Given the description of an element on the screen output the (x, y) to click on. 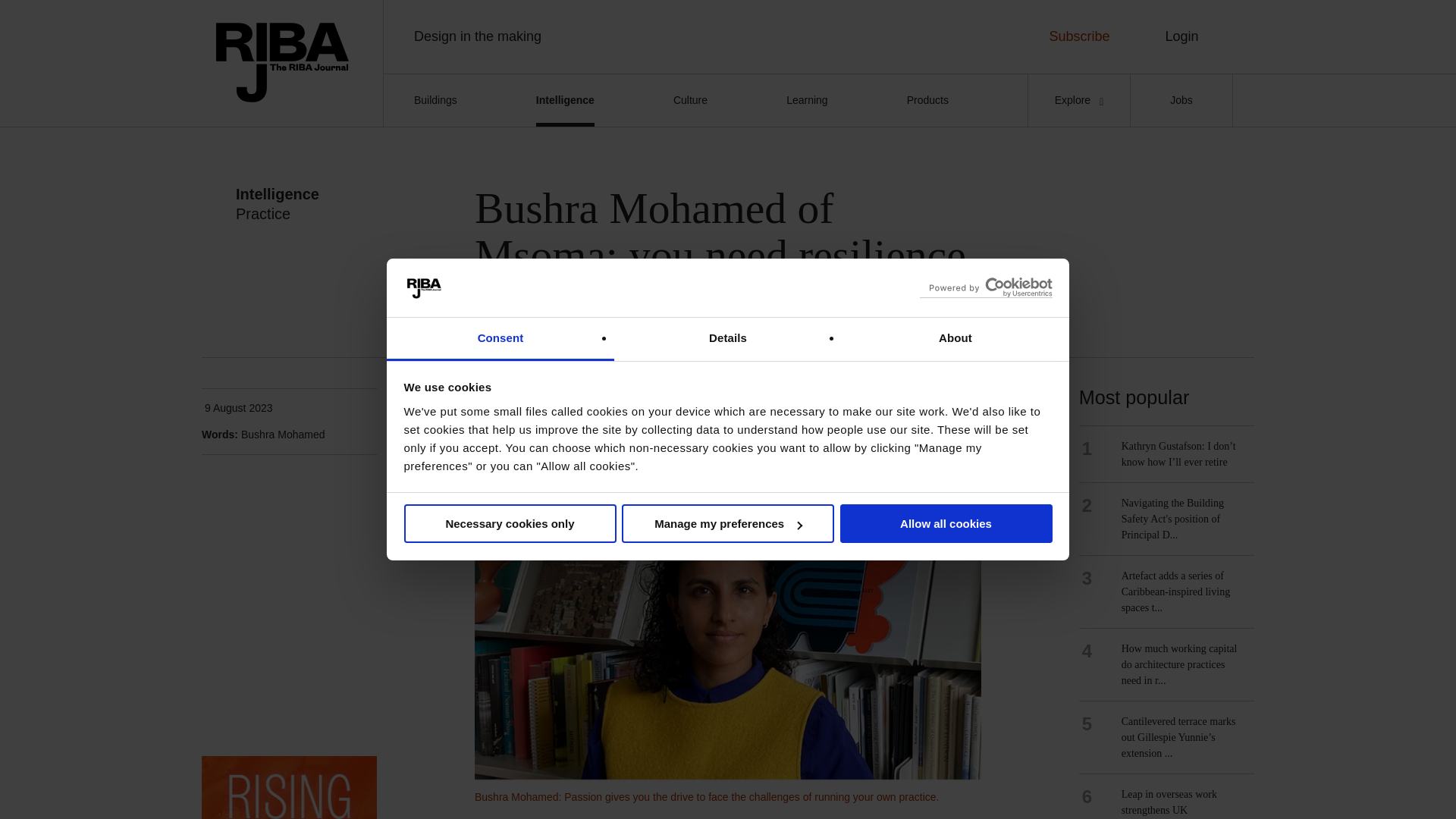
About (954, 339)
Details (727, 339)
Consent (500, 339)
